Given the description of an element on the screen output the (x, y) to click on. 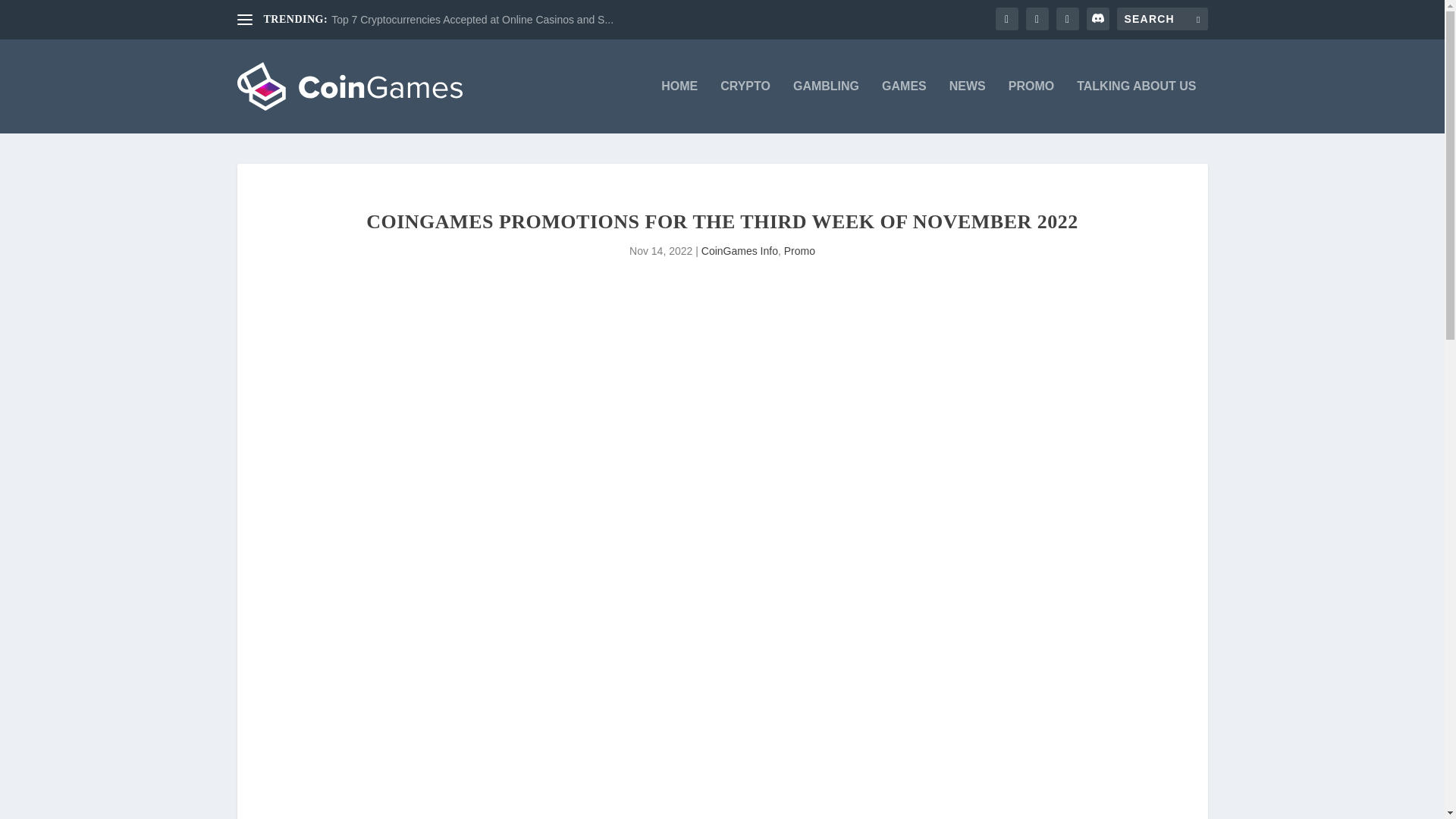
GAMBLING (826, 106)
Promo (799, 250)
Search for: (1161, 18)
CRYPTO (745, 106)
TALKING ABOUT US (1136, 106)
CoinGames Info (739, 250)
Top 7 Cryptocurrencies Accepted at Online Casinos and S... (471, 19)
